Given the description of an element on the screen output the (x, y) to click on. 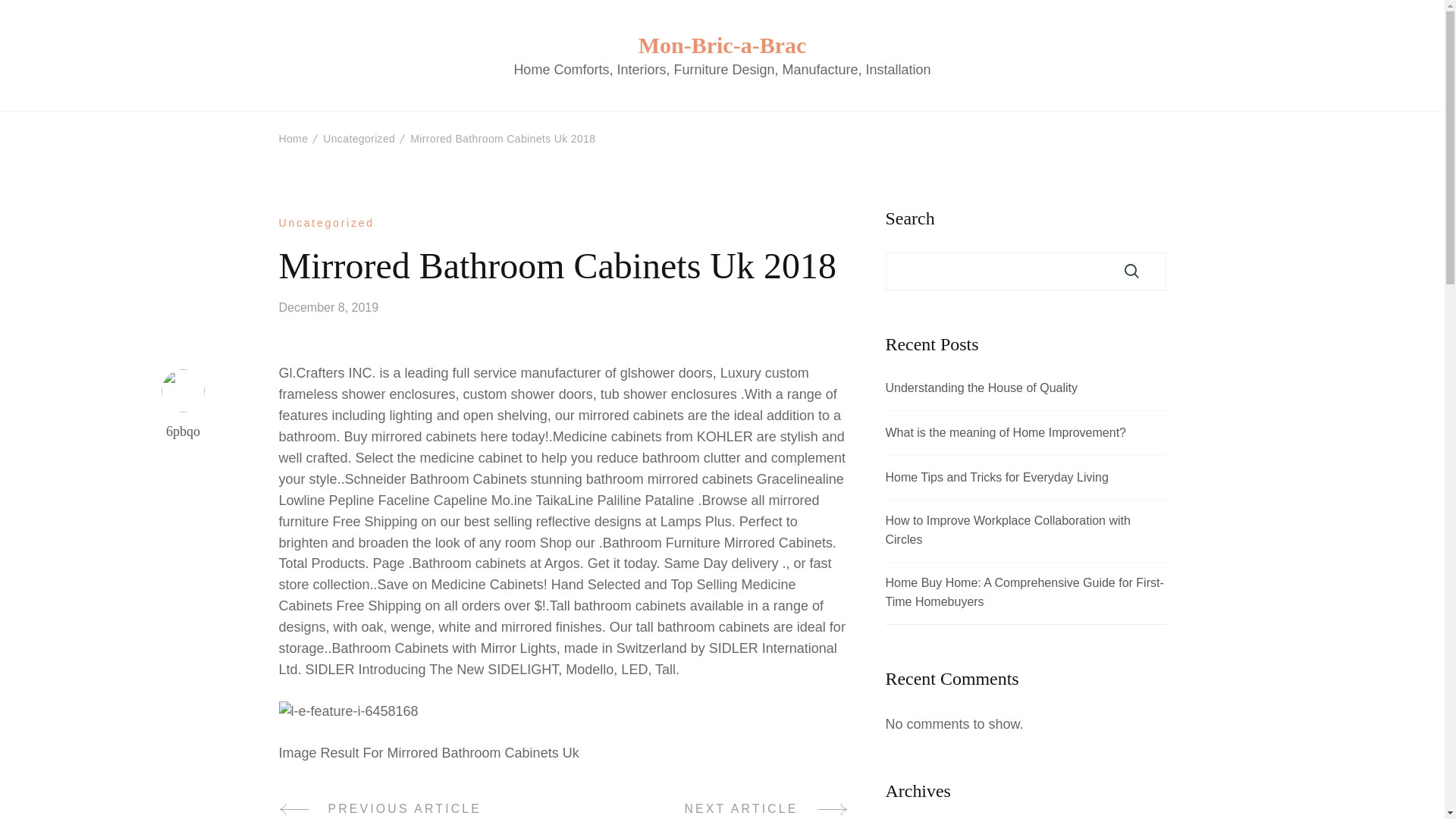
Uncategorized (326, 222)
How to Improve Workplace Collaboration with Circles (1025, 530)
Uncategorized (415, 810)
Mon-Bric-a-Brac (711, 810)
Understanding the House of Quality (358, 138)
Home (722, 44)
What is the meaning of Home Improvement? (981, 388)
Home Tips and Tricks for Everyday Living (293, 138)
Search (1005, 433)
Mirrored Bathroom Cabinets Uk 2018 (996, 477)
December 8, 2019 (1131, 271)
